Given the description of an element on the screen output the (x, y) to click on. 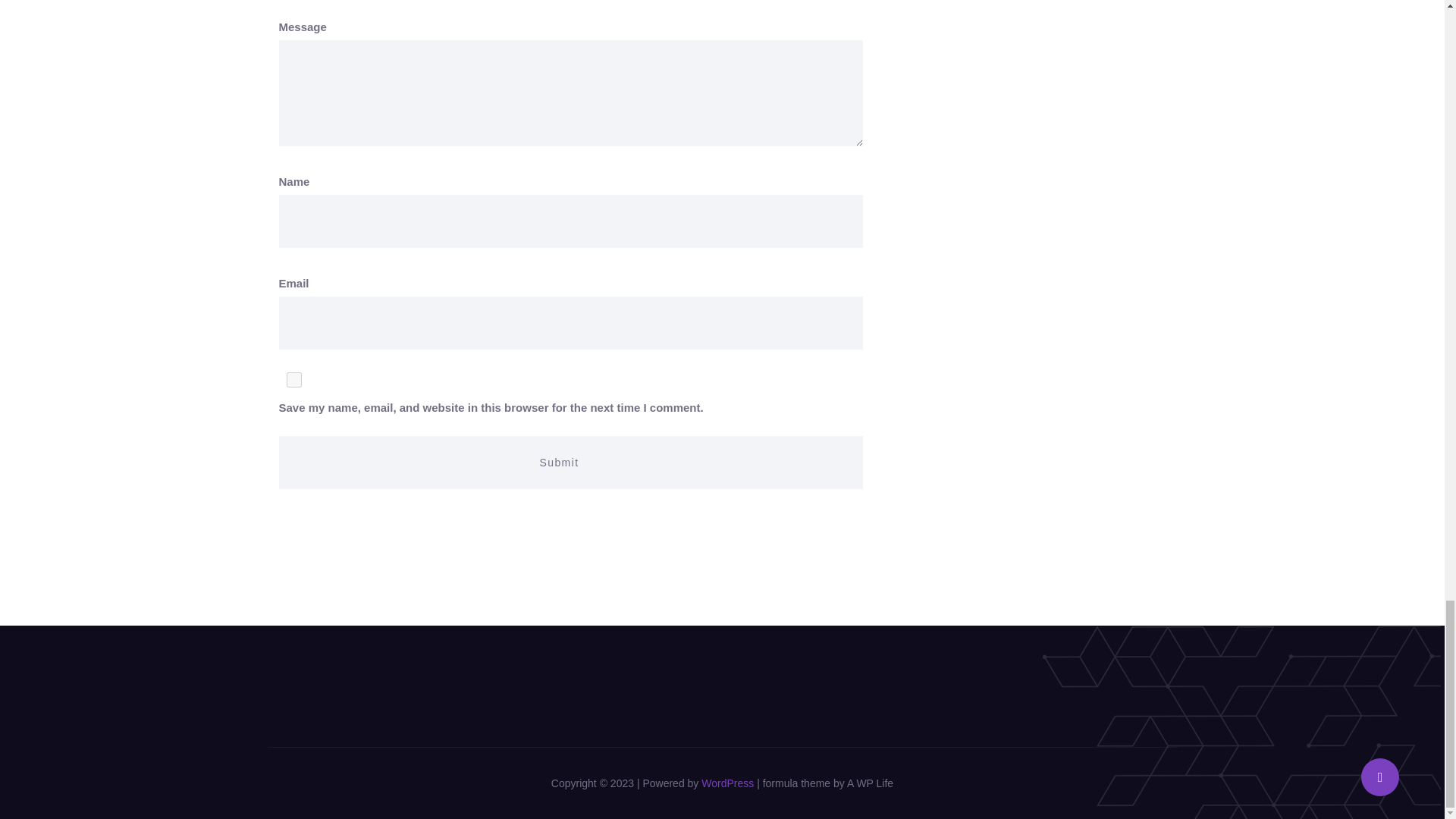
Submit (571, 461)
Submit (571, 461)
yes (293, 379)
